Given the description of an element on the screen output the (x, y) to click on. 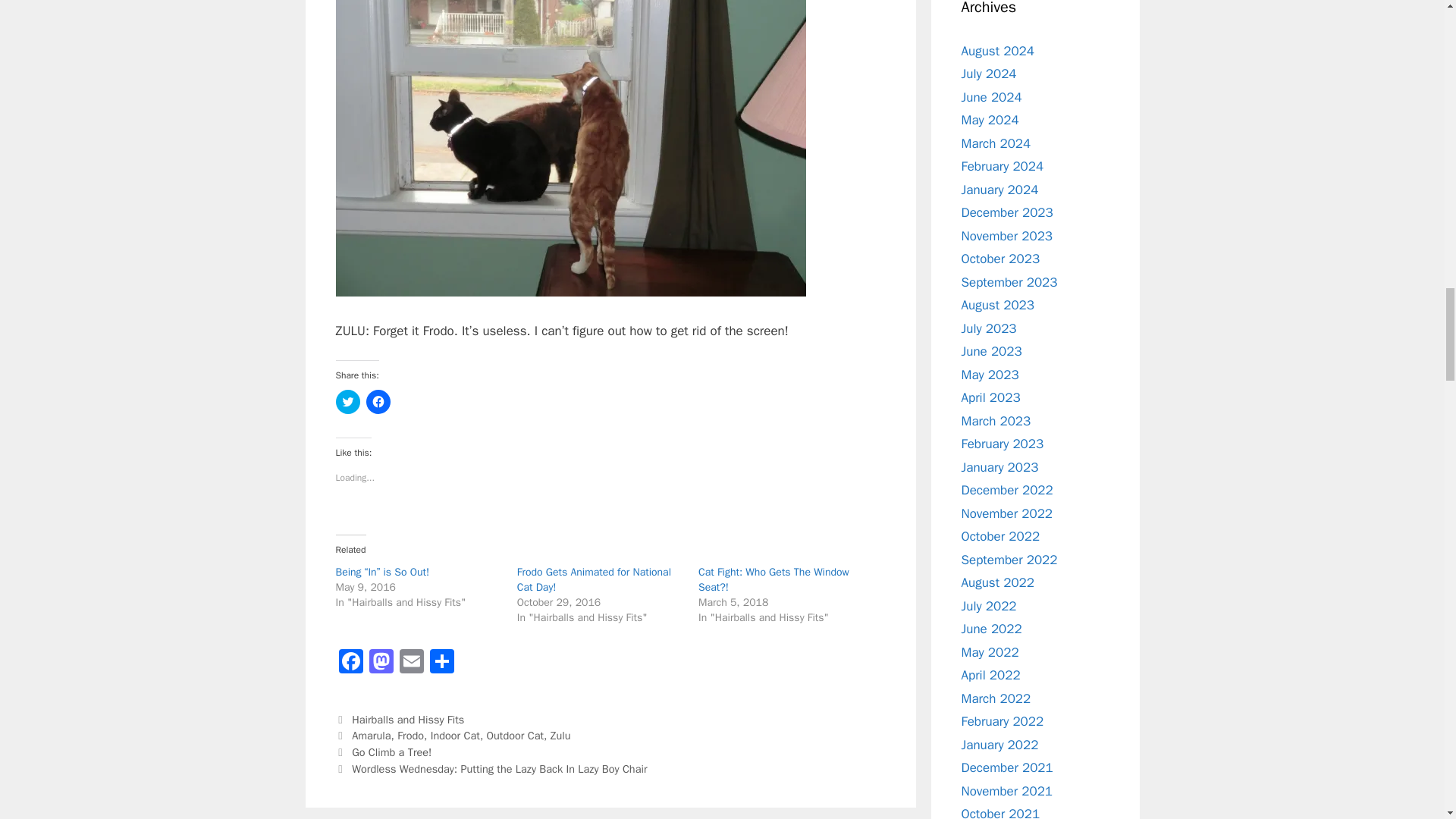
Email (411, 663)
Cat Fight: Who Gets The Window Seat?! (773, 579)
Frodo (410, 735)
Facebook (349, 663)
Go Climb a Tree! (391, 752)
Click to share on Twitter (346, 401)
Amarula (371, 735)
Outdoor Cat (515, 735)
Hairballs and Hissy Fits (408, 719)
Zulu (560, 735)
